Given the description of an element on the screen output the (x, y) to click on. 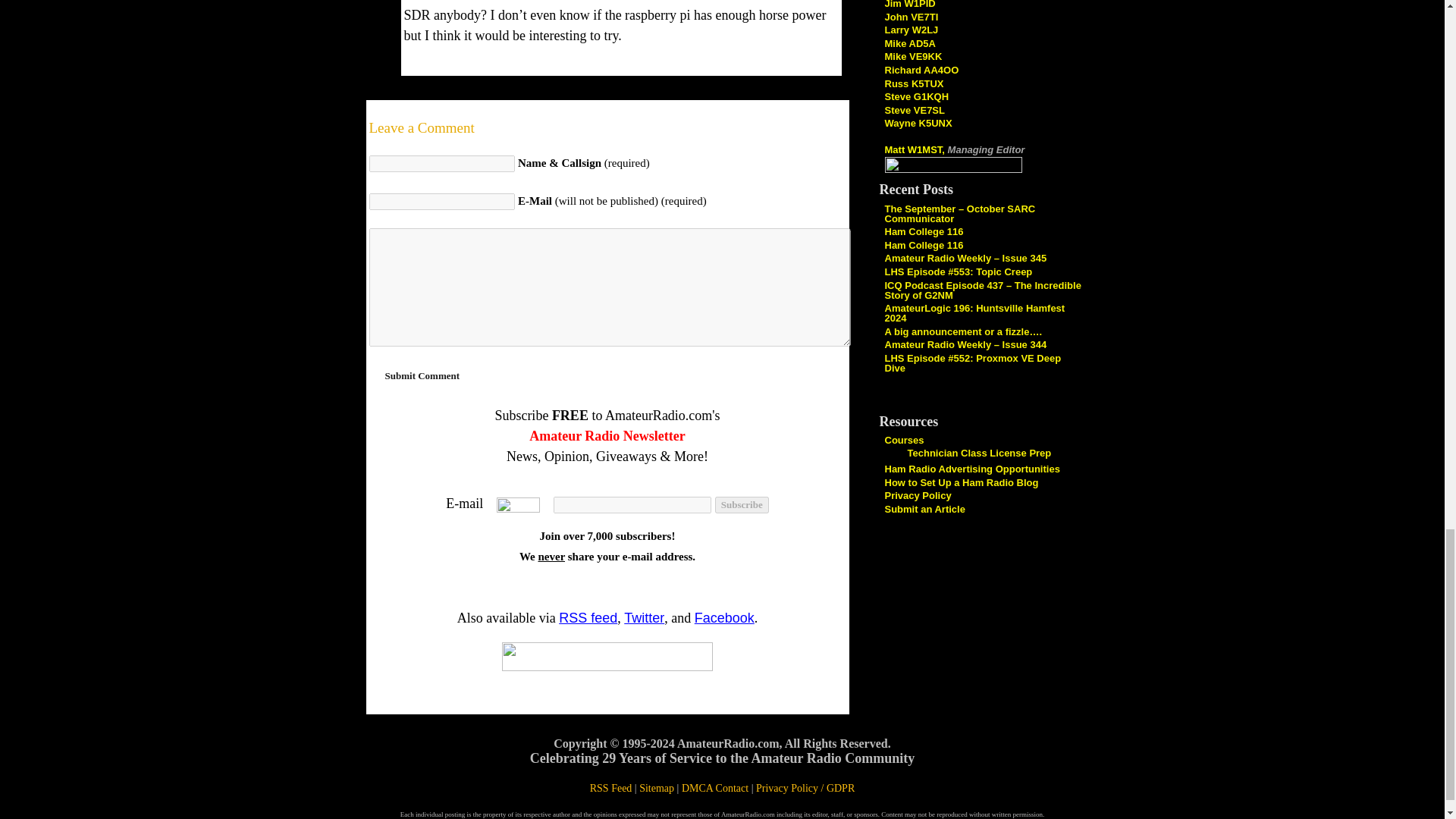
Submit Comment (422, 376)
MY HAM RADIO EXPERIENCES (908, 43)
Twitter (643, 617)
Subscribe (741, 504)
Submit Comment (422, 376)
Linux in the Ham Shack Podcast in MP3 Format (913, 82)
Lower your Power  Raise your Expectations (920, 70)
Leave a Comment (606, 127)
